Given the description of an element on the screen output the (x, y) to click on. 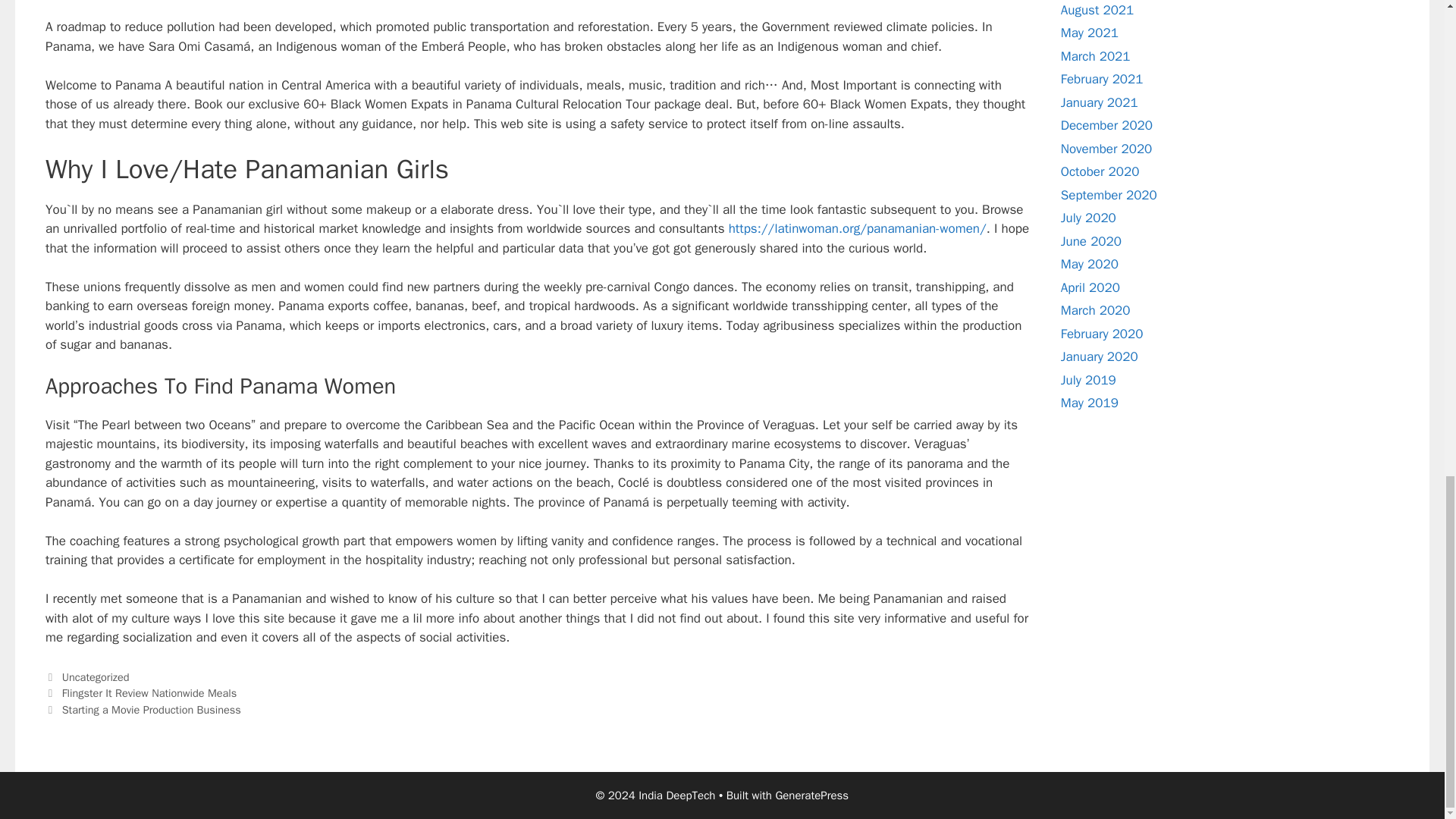
Flingster It Review Nationwide Meals (149, 693)
Starting a Movie Production Business (151, 709)
Previous (140, 693)
Uncategorized (95, 676)
Next (143, 709)
